Given the description of an element on the screen output the (x, y) to click on. 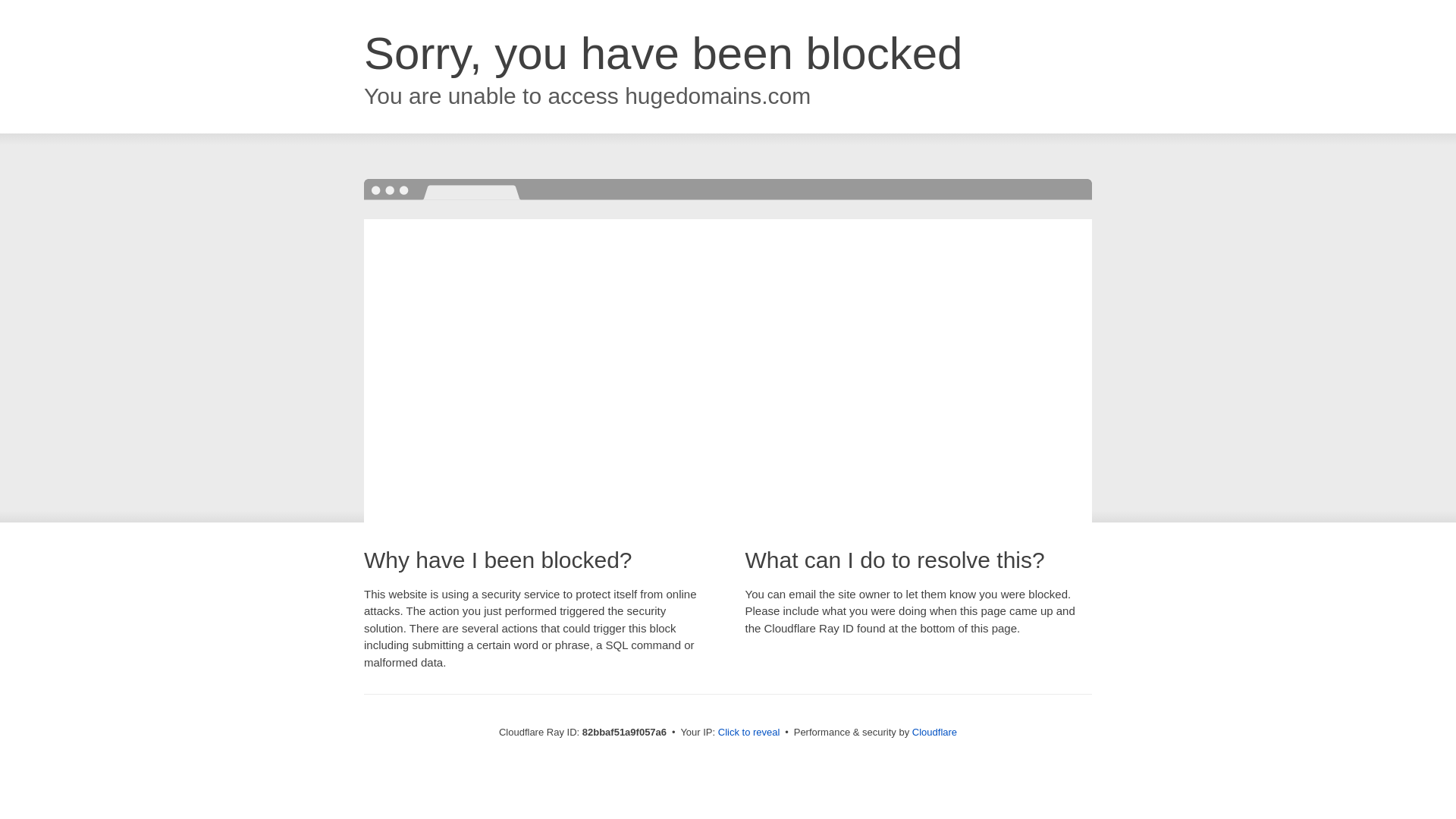
Click to reveal Element type: text (749, 732)
Cloudflare Element type: text (934, 731)
